Given the description of an element on the screen output the (x, y) to click on. 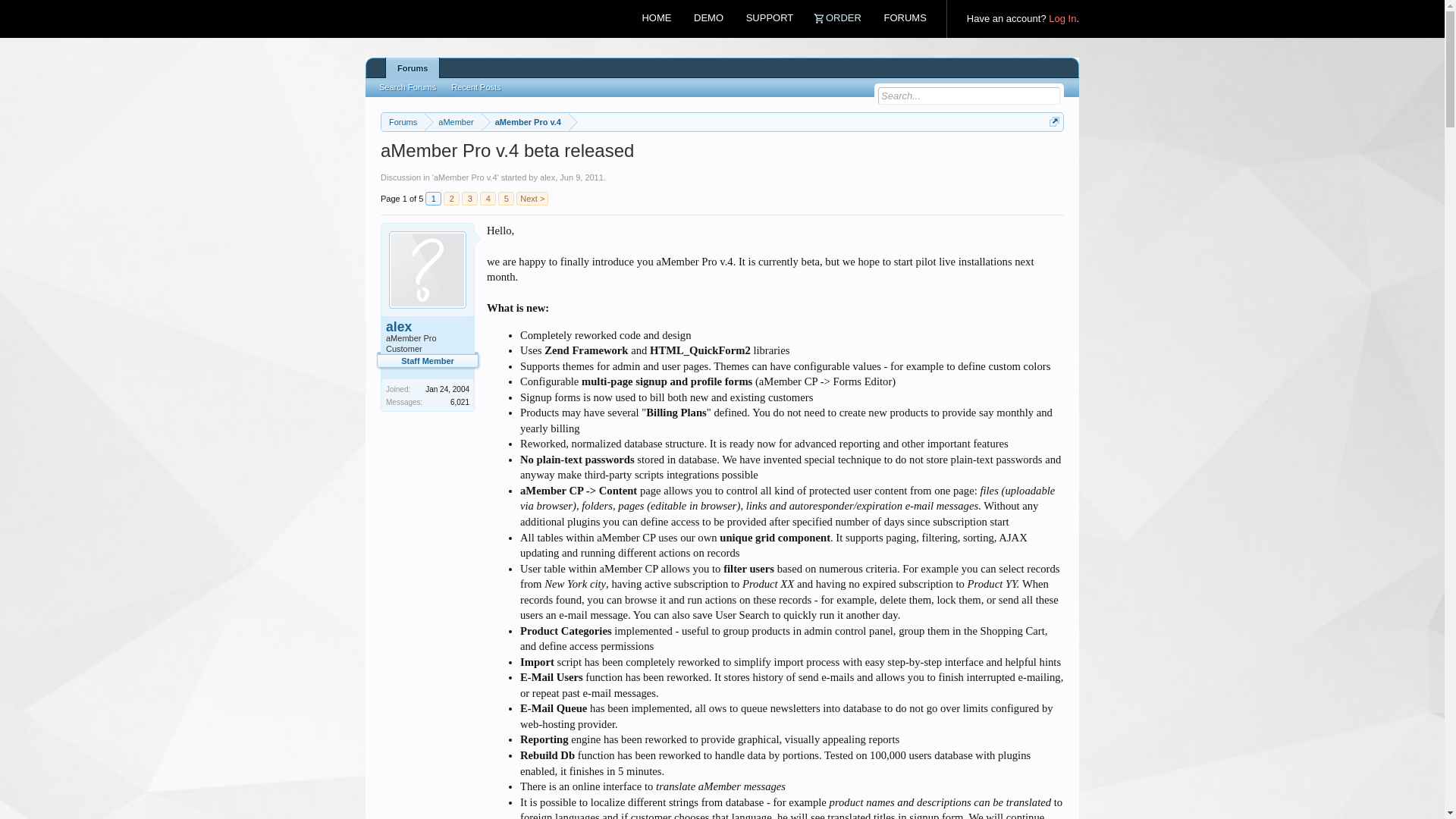
4 (488, 198)
Log In (1061, 18)
alex (426, 326)
Open quick navigation (1054, 121)
HOME (656, 18)
3 (469, 198)
Jun 9, 2011 at 1:55 PM (581, 176)
Jun 9, 2011 (581, 176)
FORUMS (904, 18)
6,021 (458, 402)
